Given the description of an element on the screen output the (x, y) to click on. 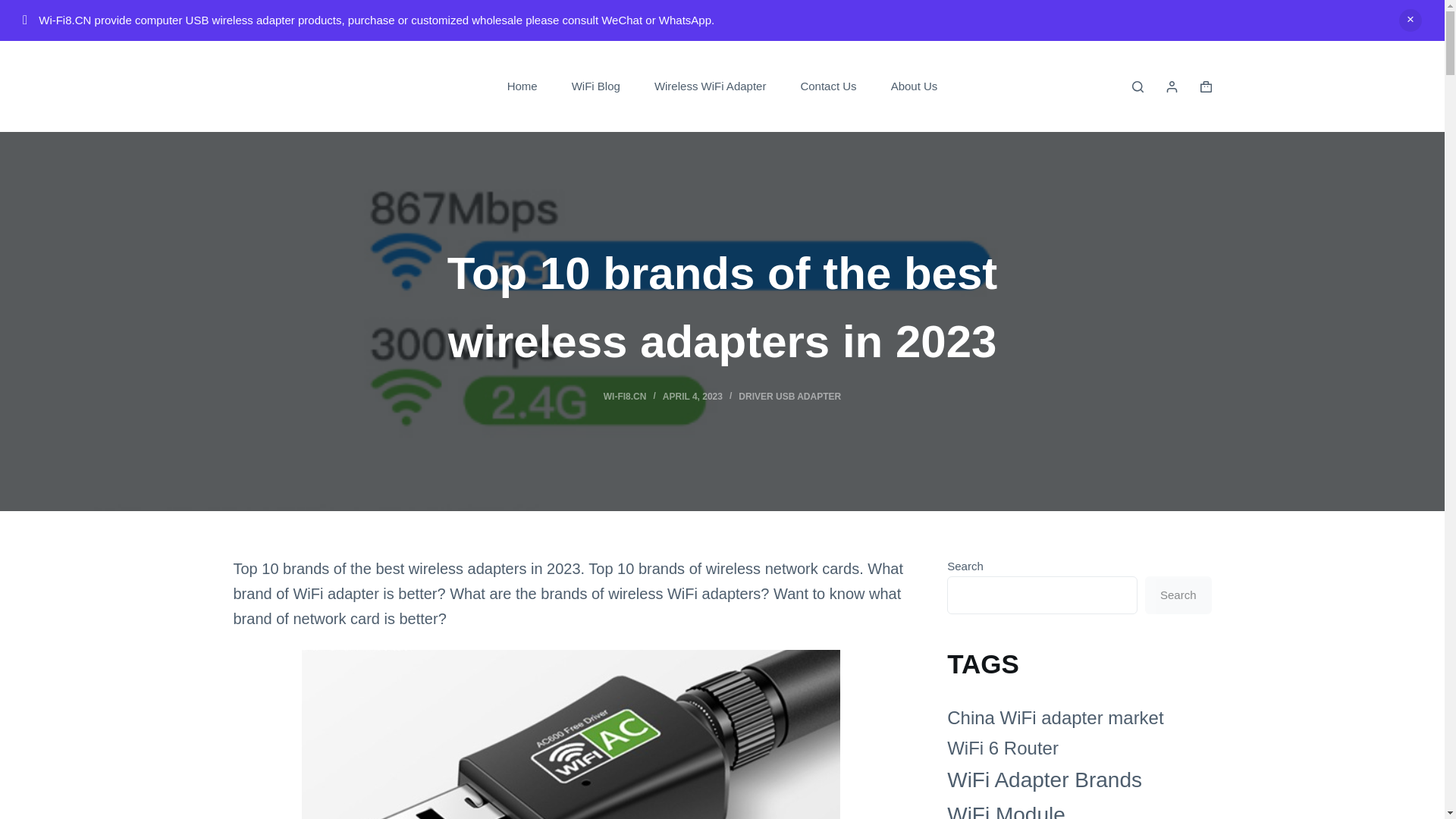
DRIVER USB ADAPTER (789, 396)
Posts by Wi-Fi8.CN (625, 396)
Wireless WiFi Adapter (710, 85)
Skip to content (15, 7)
WiFi Blog (595, 85)
Dismiss (1410, 20)
WI-FI8.CN (625, 396)
Contact Us (828, 85)
Top 10 brands of the best wireless adapters in 2023 (722, 307)
